Given the description of an element on the screen output the (x, y) to click on. 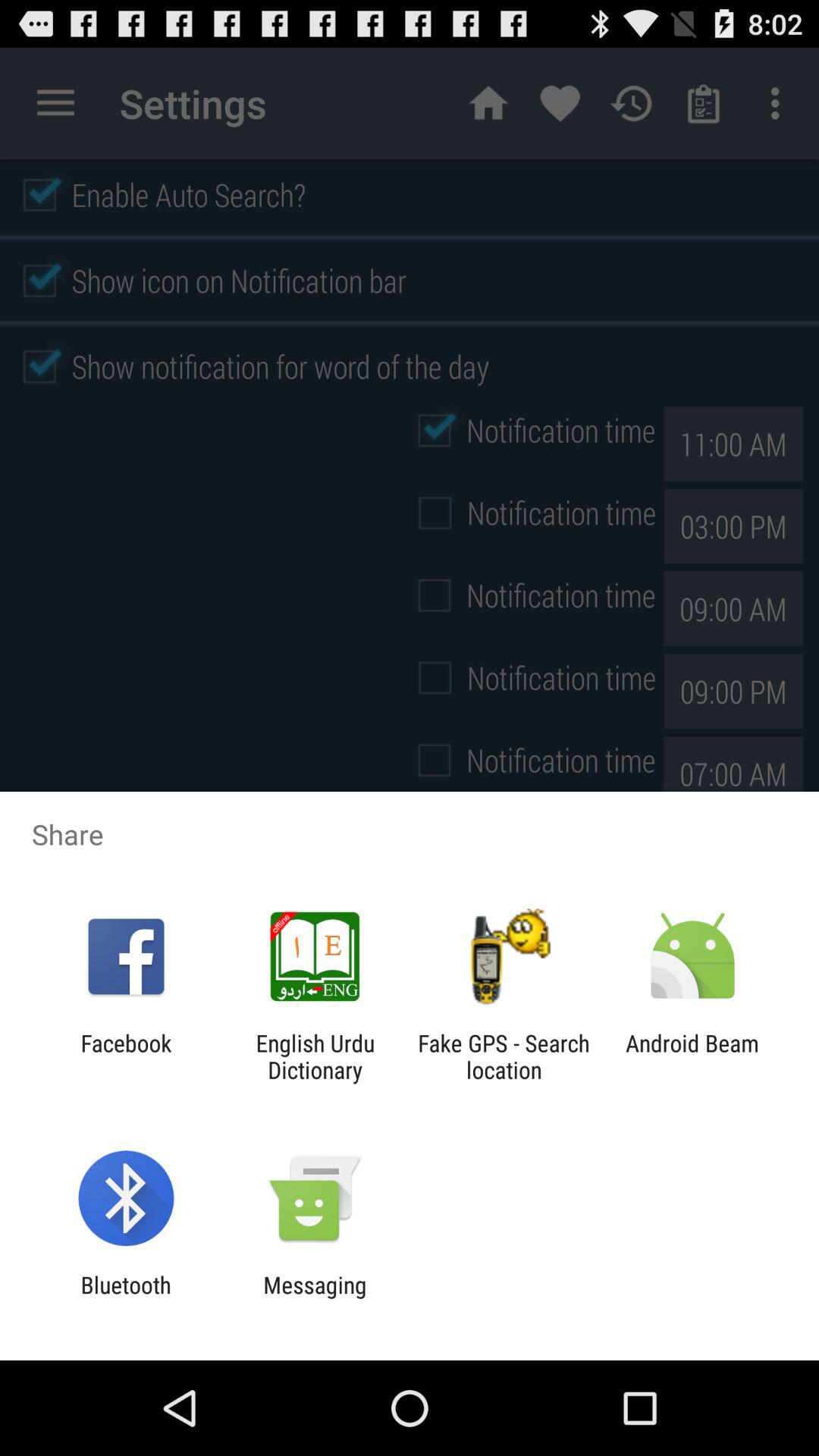
jump to the bluetooth (125, 1298)
